Given the description of an element on the screen output the (x, y) to click on. 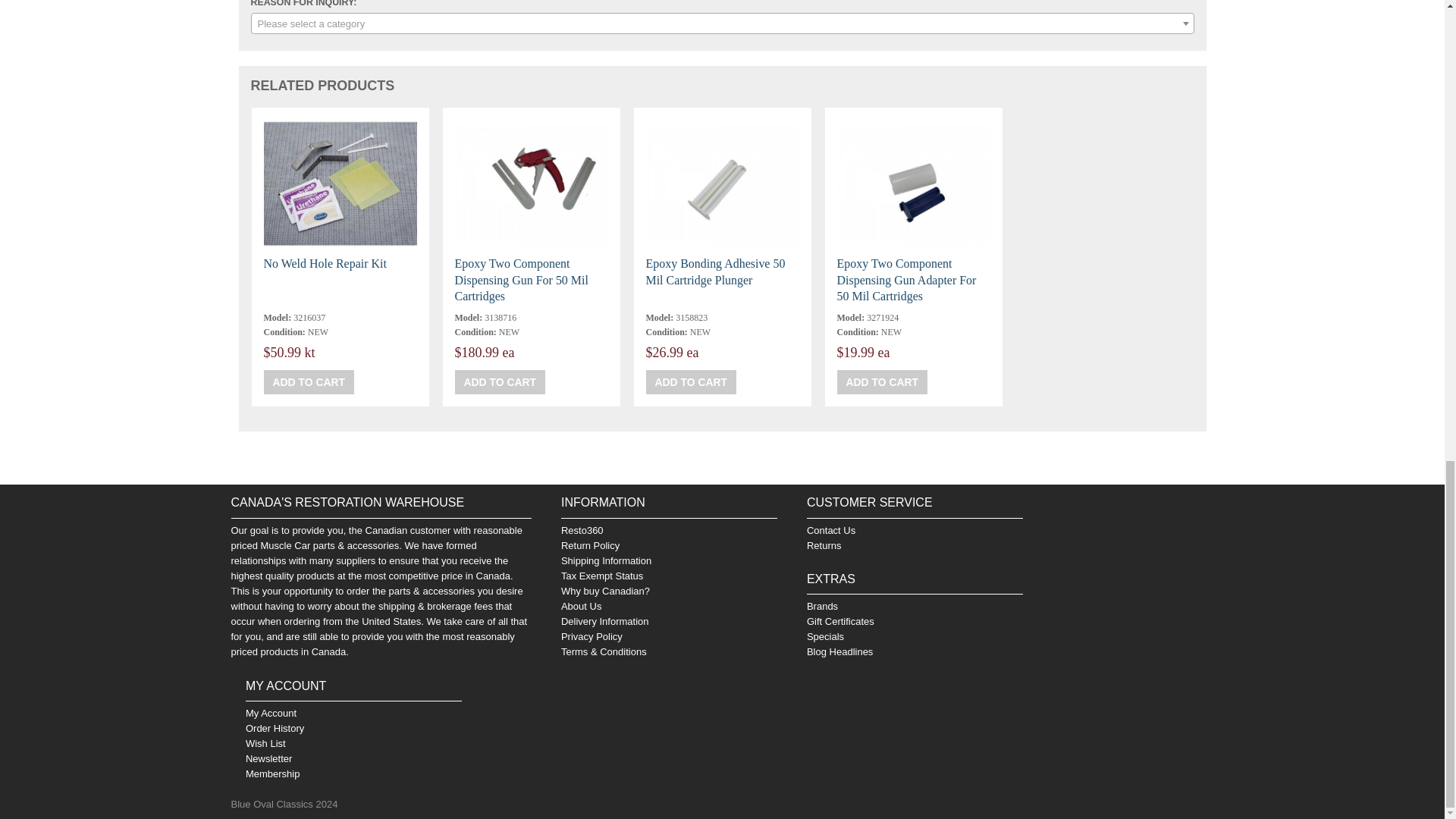
Add to Cart (882, 381)
Add to Cart (500, 381)
Add to Cart (309, 381)
Add to Cart (691, 381)
